Given the description of an element on the screen output the (x, y) to click on. 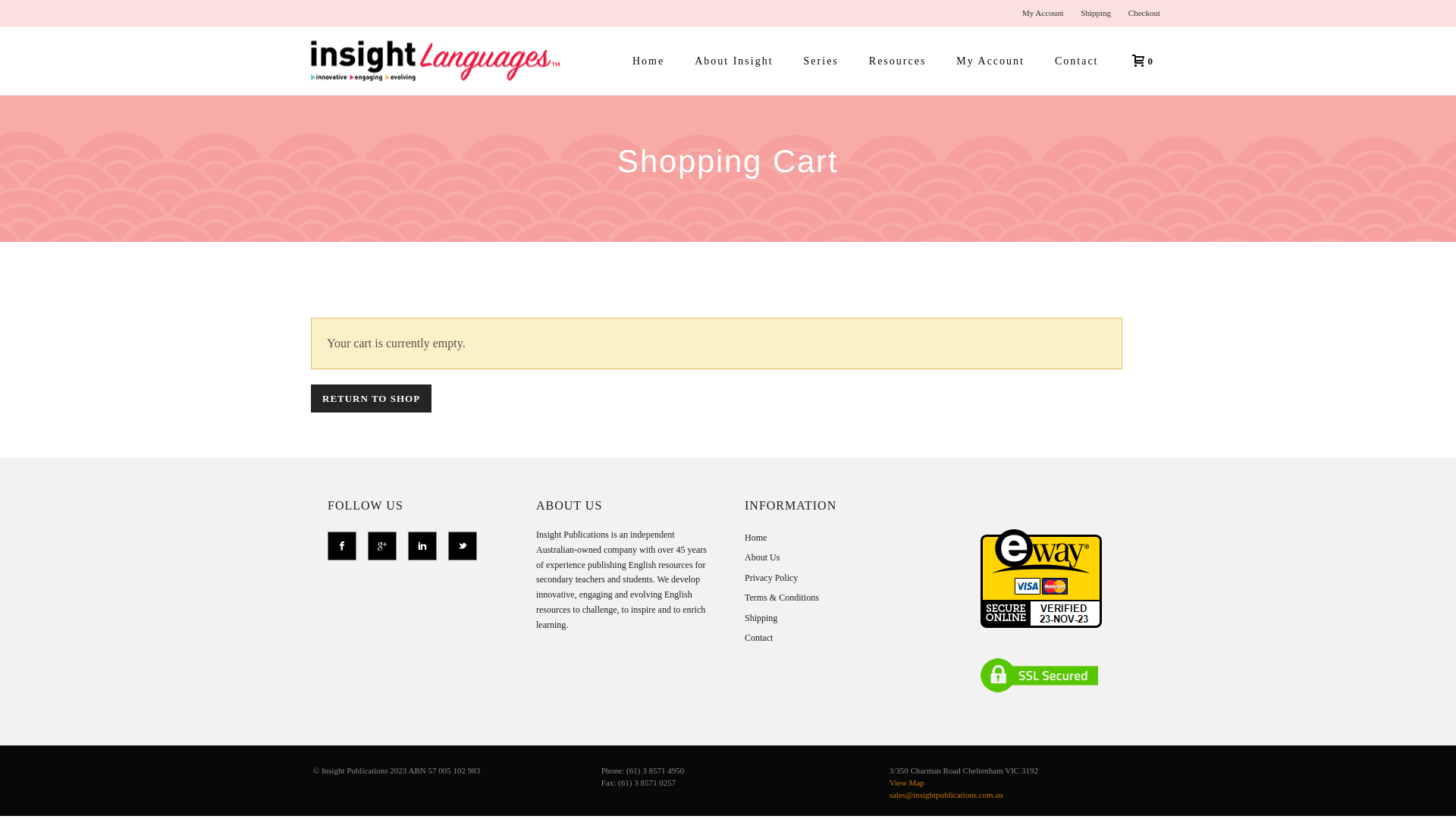
View Map Element type: text (906, 782)
0 Element type: text (1138, 59)
Shipping Element type: text (760, 617)
eWAY Payment Gateway Element type: hover (1040, 605)
About Us Element type: text (761, 556)
Follow Us on googleplus Element type: hover (381, 545)
sales@insightpublications.com.au Element type: text (946, 794)
Home Element type: text (755, 537)
Terms & Conditions Element type: text (781, 597)
Contact Element type: text (1076, 61)
Follow Us on facebook Element type: hover (341, 545)
Shipping Element type: text (1095, 12)
Home Element type: text (648, 61)
Checkout Element type: text (1144, 12)
Contact Element type: text (758, 637)
My Account Element type: text (990, 61)
Follow Us on twitter Element type: hover (462, 545)
Privacy Policy Element type: text (770, 577)
RETURN TO SHOP Element type: text (370, 398)
Series Element type: text (820, 61)
My Account Element type: text (1042, 12)
Contemporary, playful and age specific language workbooks Element type: hover (443, 60)
Follow Us on linkedin Element type: hover (421, 545)
About Insight Element type: text (733, 61)
SSL Secured Website Element type: hover (1040, 675)
Resources Element type: text (897, 61)
